Given the description of an element on the screen output the (x, y) to click on. 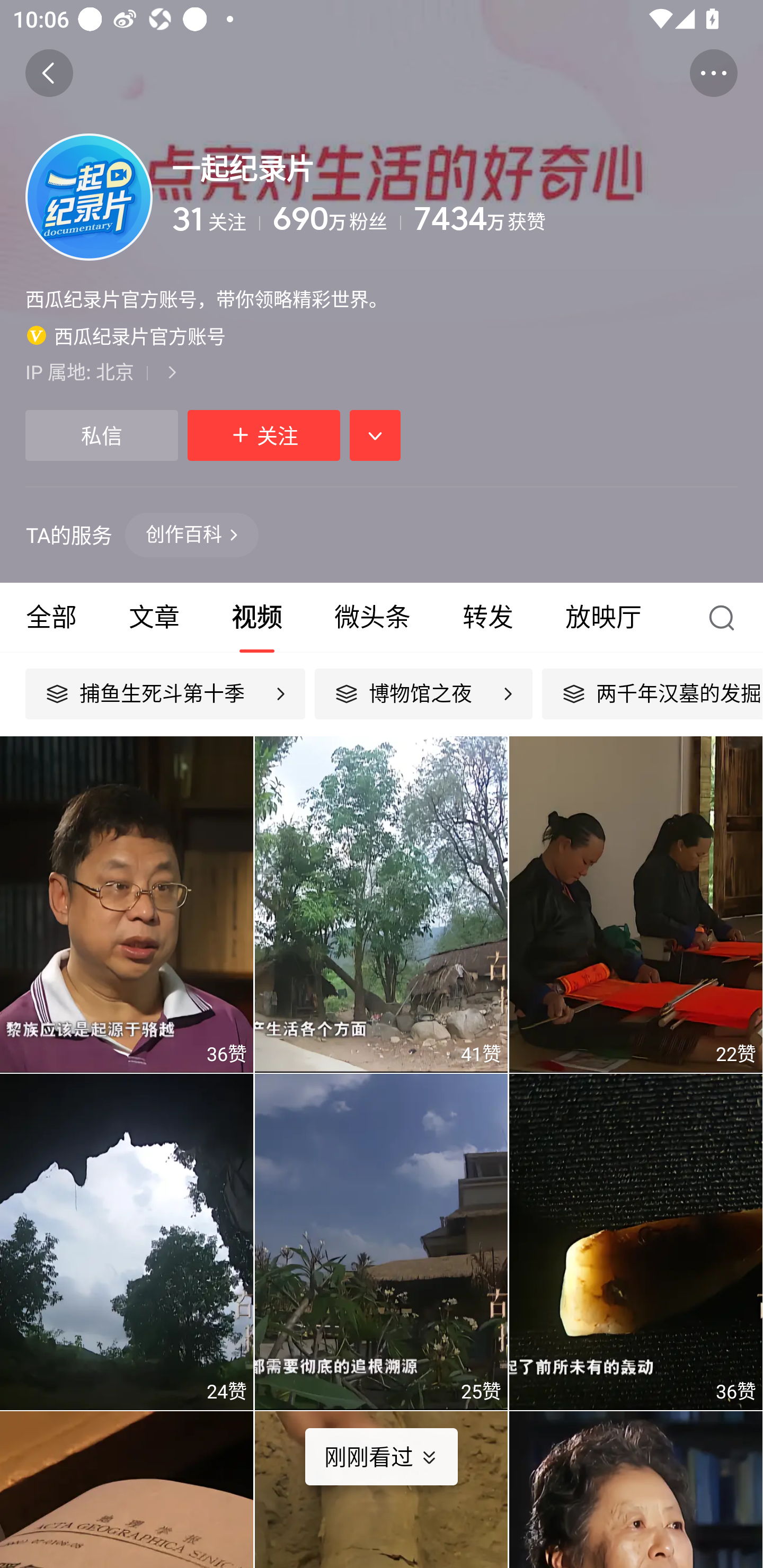
返回 (49, 72)
更多操作 (713, 72)
头像 (88, 196)
31 关注 (215, 219)
690万 粉丝 (336, 219)
7434万 获赞 (575, 219)
西瓜纪录片官方账号 (125, 335)
IP 属地: 北京 (381, 371)
私信 (101, 434)
     关注 (263, 434)
展开相关推荐，按钮 (374, 434)
创作百科 (191, 534)
全部 (51, 617)
文章 (154, 617)
视频 (256, 617)
微头条 (372, 617)
转发 (487, 617)
放映厅 (603, 617)
搜索 (726, 617)
捕鱼生死斗第十季 (165, 693)
博物馆之夜 (423, 693)
两千年汉墓的发掘 (651, 693)
刚刚看过 (393, 1456)
